Given the description of an element on the screen output the (x, y) to click on. 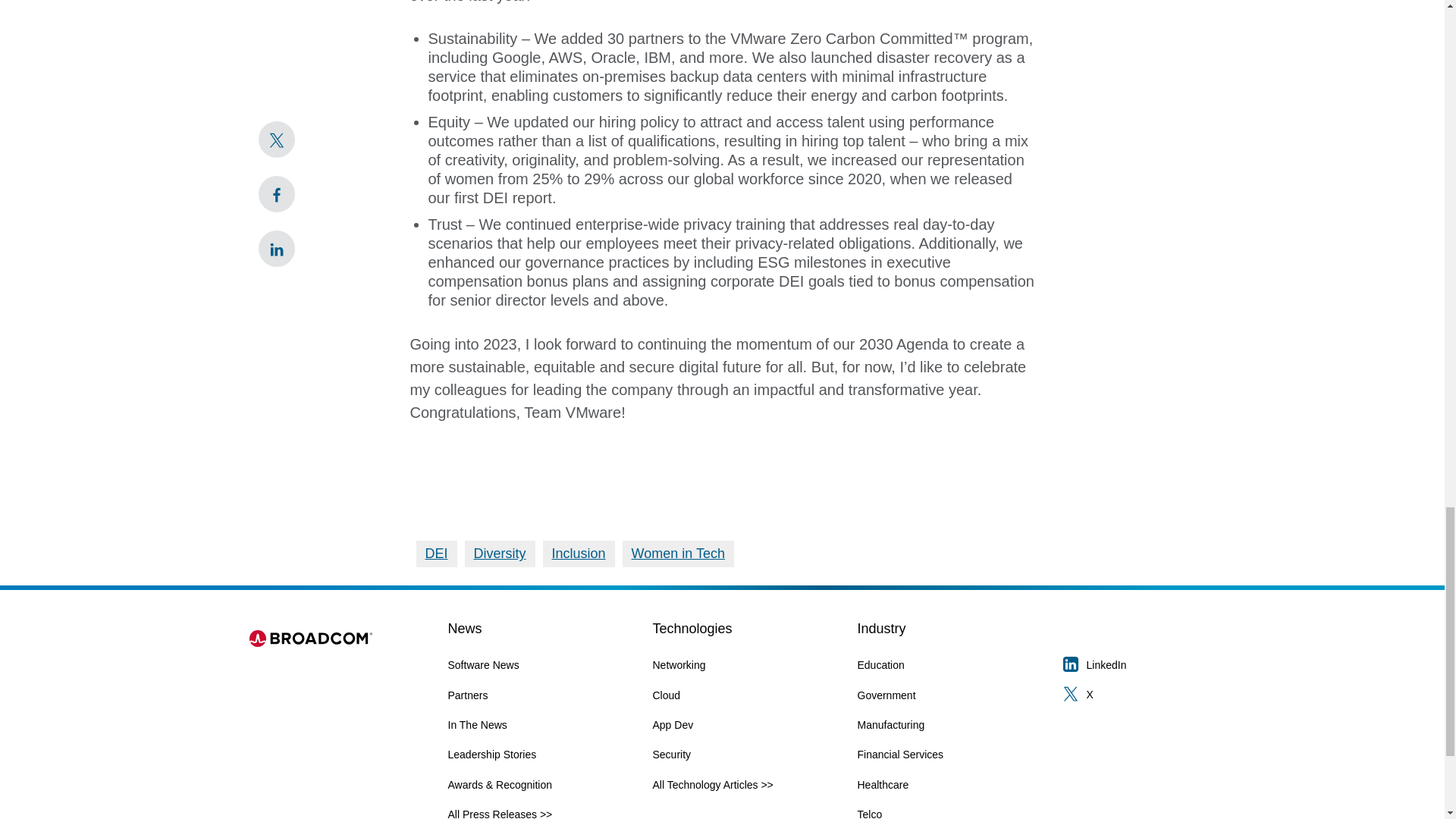
Broadcom (311, 644)
